Given the description of an element on the screen output the (x, y) to click on. 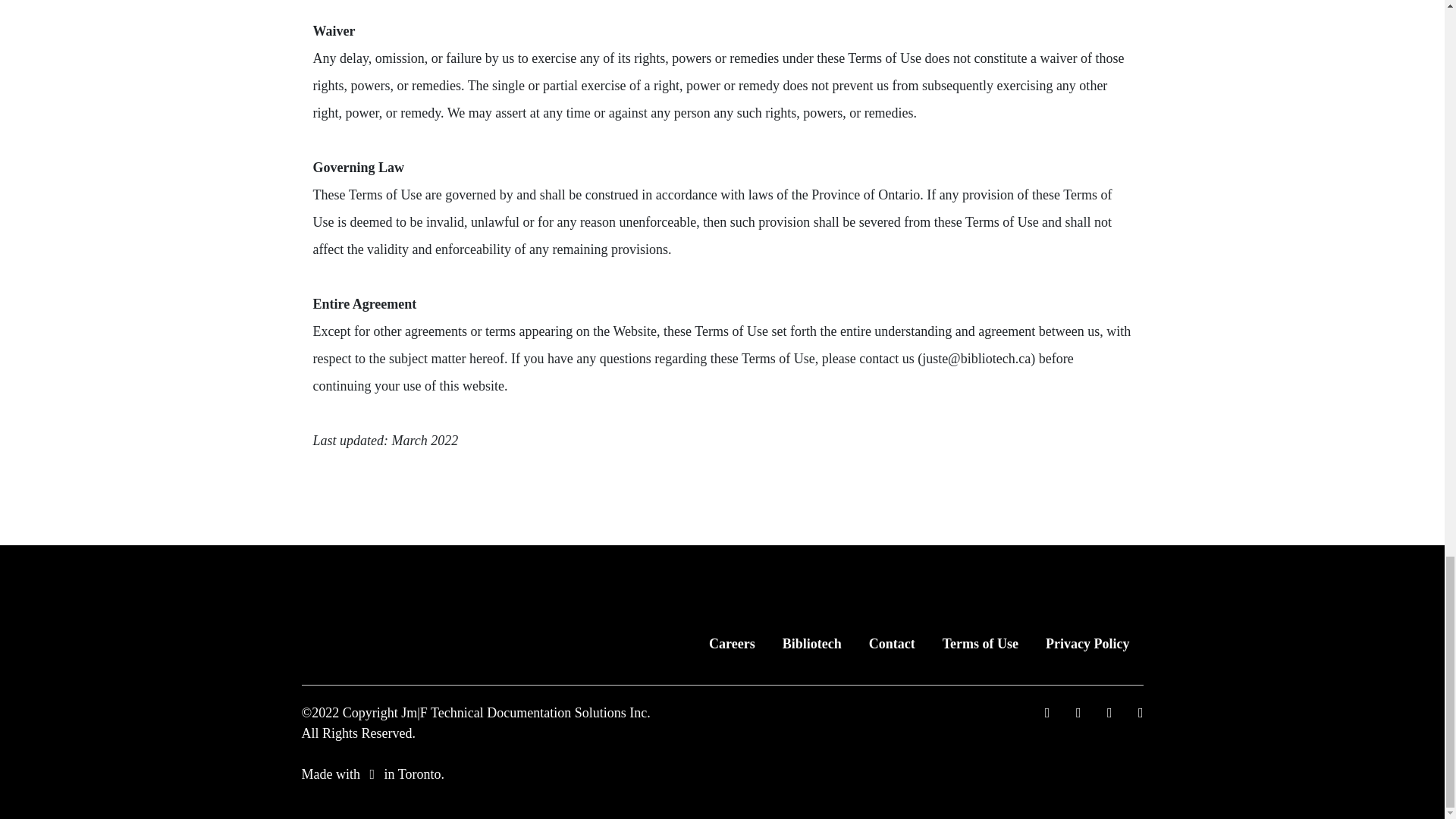
Terms of Use (980, 643)
Privacy Policy (1087, 643)
Bibliotech (812, 643)
Contact (892, 643)
Careers (731, 643)
